Given the description of an element on the screen output the (x, y) to click on. 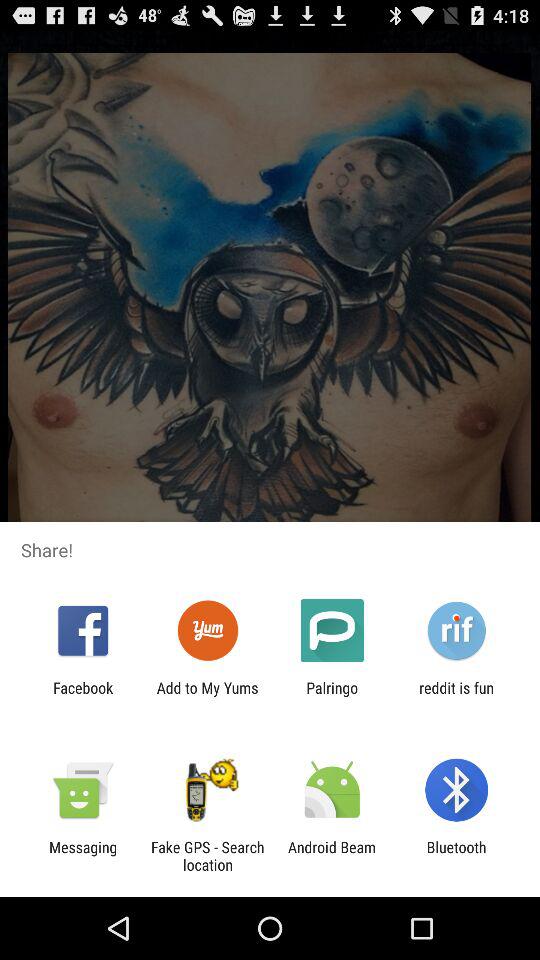
open item next to add to my app (83, 696)
